Given the description of an element on the screen output the (x, y) to click on. 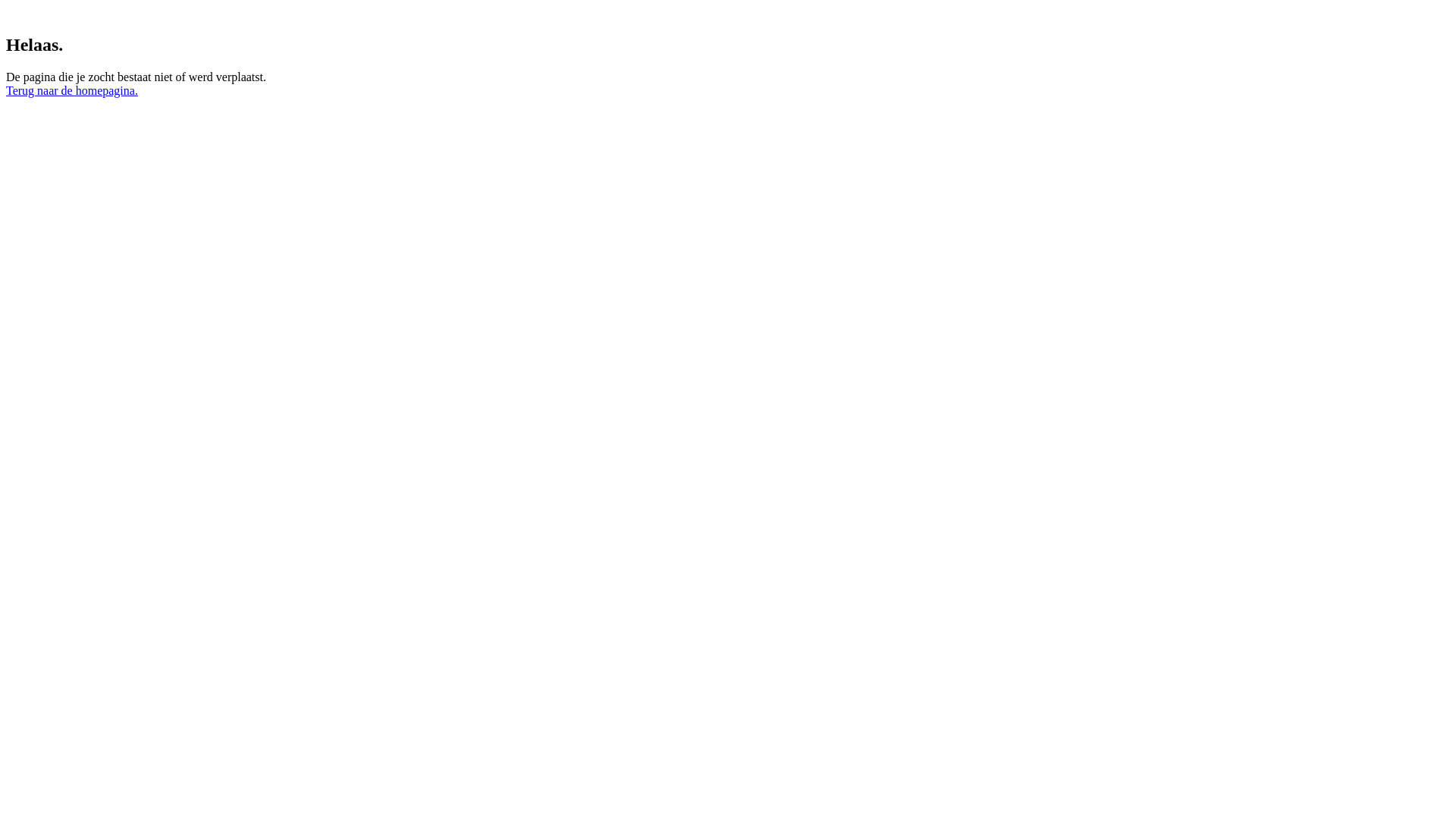
Terug naar de homepagina. Element type: text (72, 90)
